Given the description of an element on the screen output the (x, y) to click on. 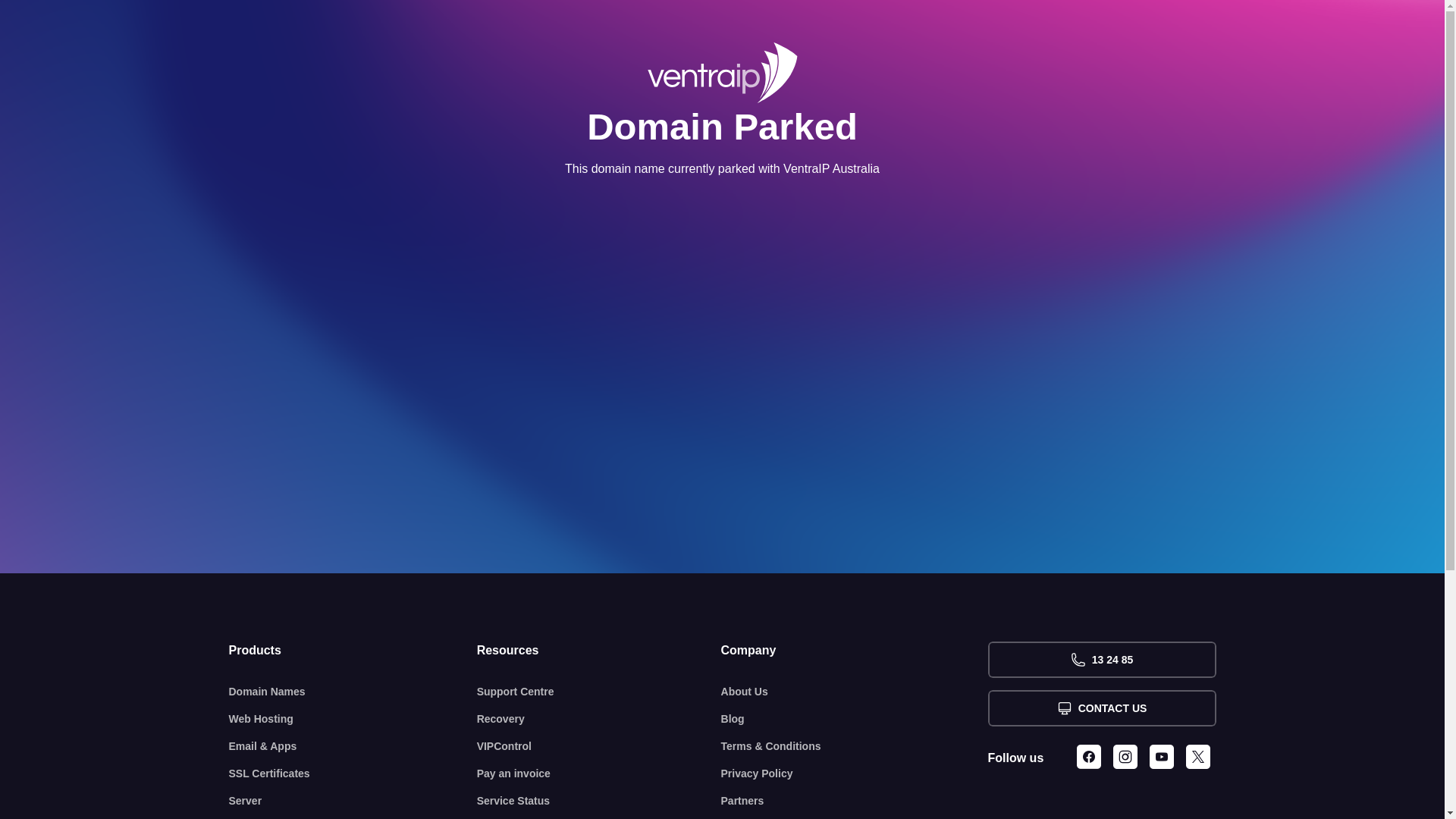
Terms & Conditions Element type: text (854, 745)
Partners Element type: text (854, 800)
Email & Apps Element type: text (352, 745)
Support Centre Element type: text (598, 691)
Service Status Element type: text (598, 800)
About Us Element type: text (854, 691)
Privacy Policy Element type: text (854, 773)
Blog Element type: text (854, 718)
Server Element type: text (352, 800)
VIPControl Element type: text (598, 745)
Domain Names Element type: text (352, 691)
13 24 85 Element type: text (1101, 659)
SSL Certificates Element type: text (352, 773)
Pay an invoice Element type: text (598, 773)
CONTACT US Element type: text (1101, 708)
Recovery Element type: text (598, 718)
Web Hosting Element type: text (352, 718)
